Given the description of an element on the screen output the (x, y) to click on. 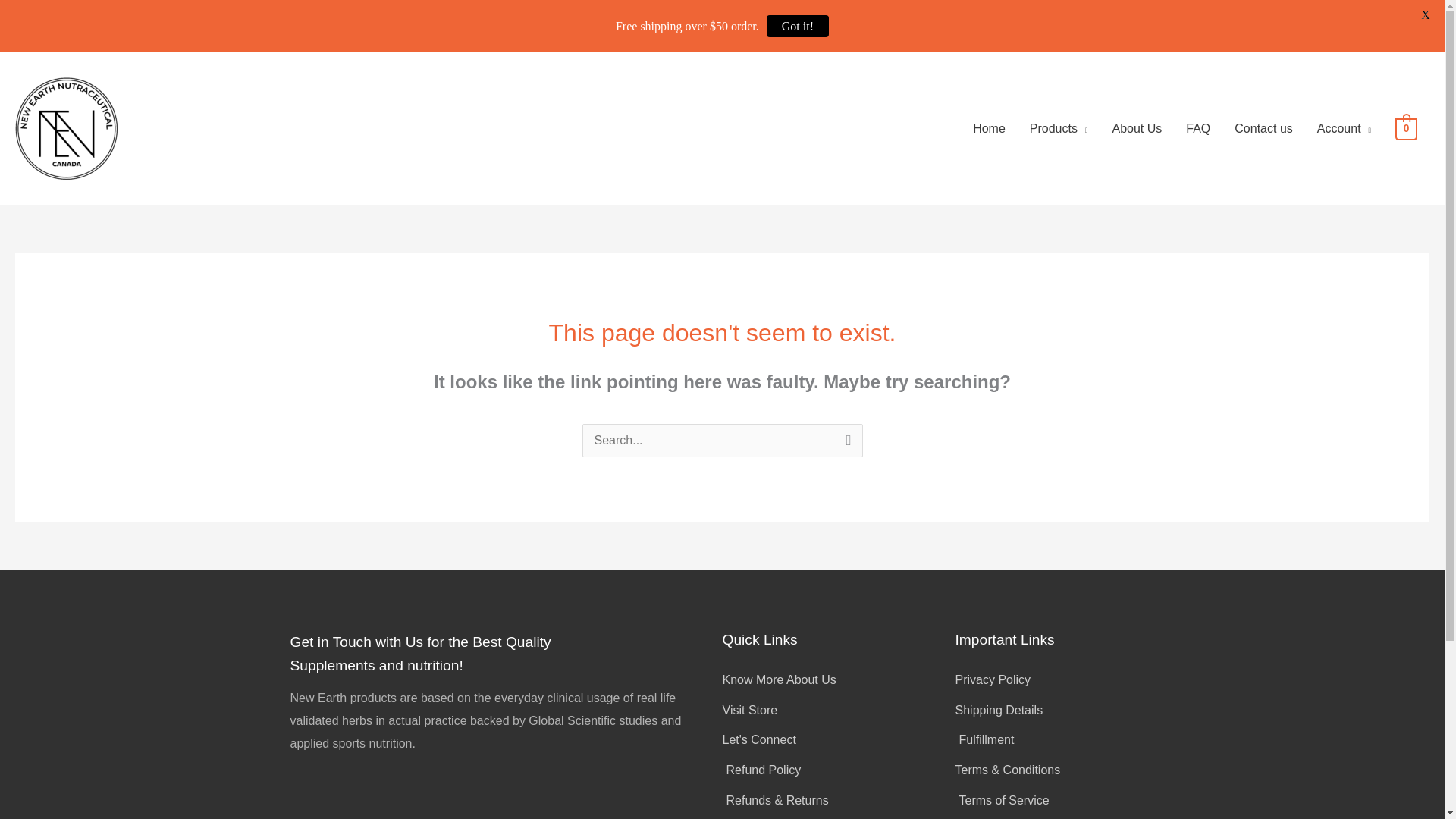
Visit Store (838, 710)
Products (1058, 128)
FAQ (1198, 128)
Home (988, 128)
Know More About Us (838, 680)
Contact us (1263, 128)
Account (1343, 128)
Fulfillment (1054, 739)
Got it! (797, 25)
0 (1405, 128)
Shipping Details (1054, 710)
Refund Policy (838, 770)
About Us (1136, 128)
Terms of Service (1054, 800)
Privacy Policy (1054, 680)
